Given the description of an element on the screen output the (x, y) to click on. 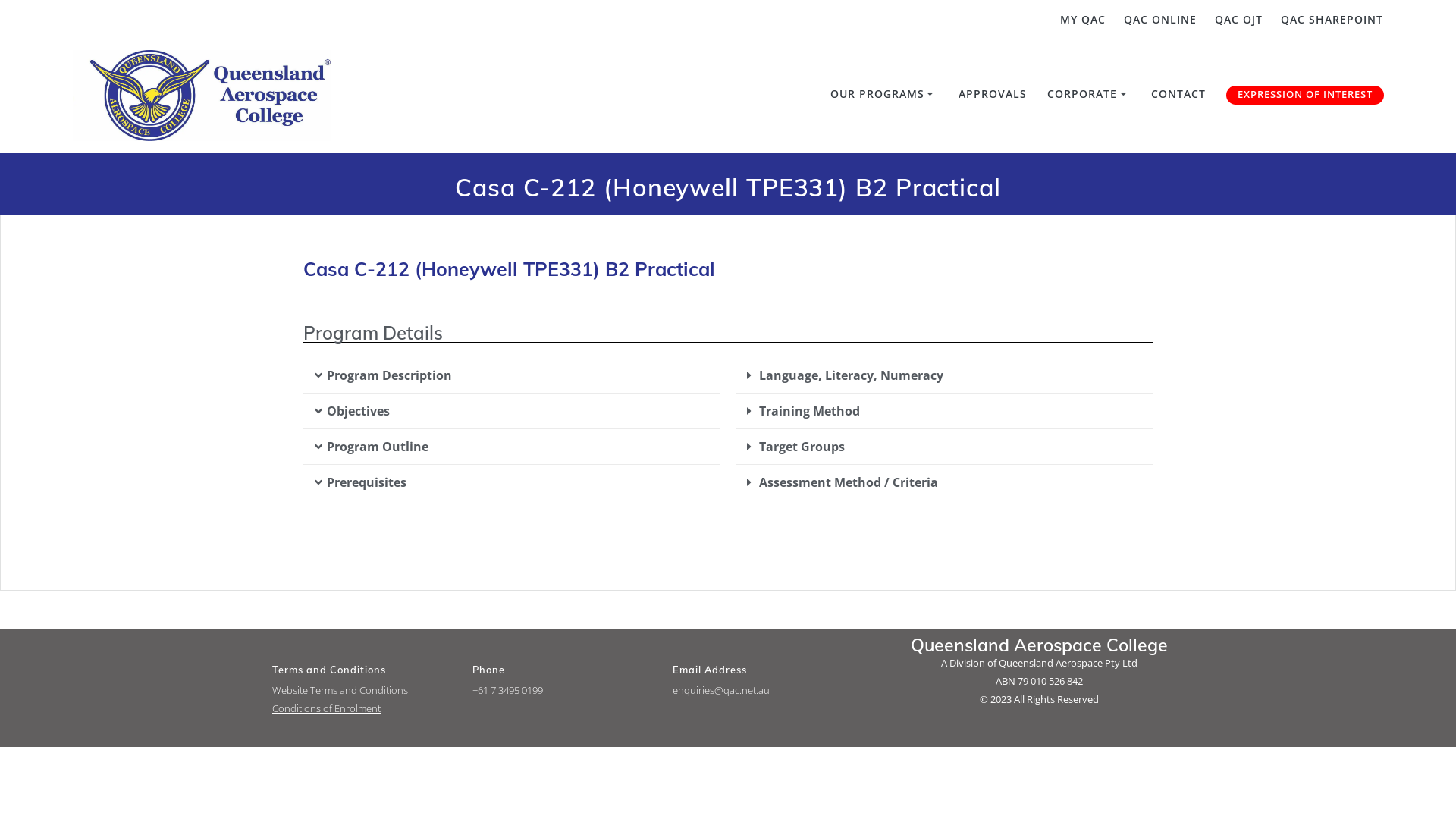
QAC SHAREPOINT Element type: text (1328, 19)
Website Terms and Conditions Element type: text (339, 689)
enquiries@qac.net.au Element type: text (720, 689)
QAC OJT Element type: text (1234, 19)
CONTACT Element type: text (1178, 94)
Assessment Method / Criteria Element type: text (848, 481)
Objectives Element type: text (357, 410)
Target Groups Element type: text (801, 446)
+61 7 3495 0199 Element type: text (507, 689)
Program Description Element type: text (388, 375)
Language, Literacy, Numeracy Element type: text (851, 375)
QAC ONLINE Element type: text (1156, 19)
Prerequisites Element type: text (366, 481)
OUR PROGRAMS Element type: text (884, 94)
Conditions of Enrolment Element type: text (326, 708)
Training Method Element type: text (809, 410)
APPROVALS Element type: text (992, 94)
MY QAC Element type: text (1078, 19)
EXPRESSION OF INTEREST Element type: text (1304, 94)
CORPORATE Element type: text (1088, 94)
Program Outline Element type: text (377, 446)
